Given the description of an element on the screen output the (x, y) to click on. 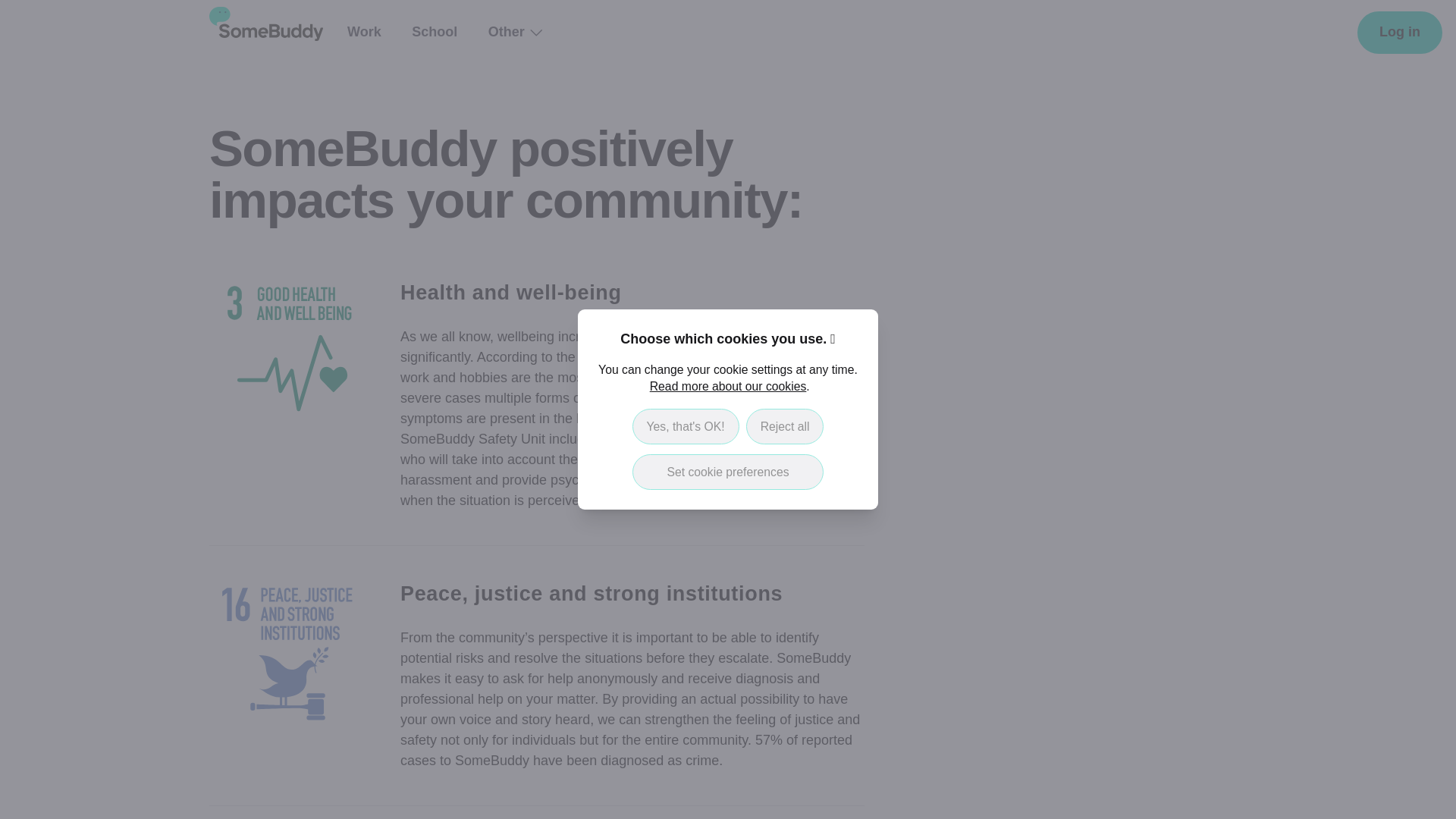
Read more about our cookies (727, 386)
Work (363, 31)
School (434, 31)
Yes, that's OK! (685, 426)
Log in (1399, 32)
Other (514, 31)
Reject all (784, 426)
Set cookie preferences (727, 471)
